Given the description of an element on the screen output the (x, y) to click on. 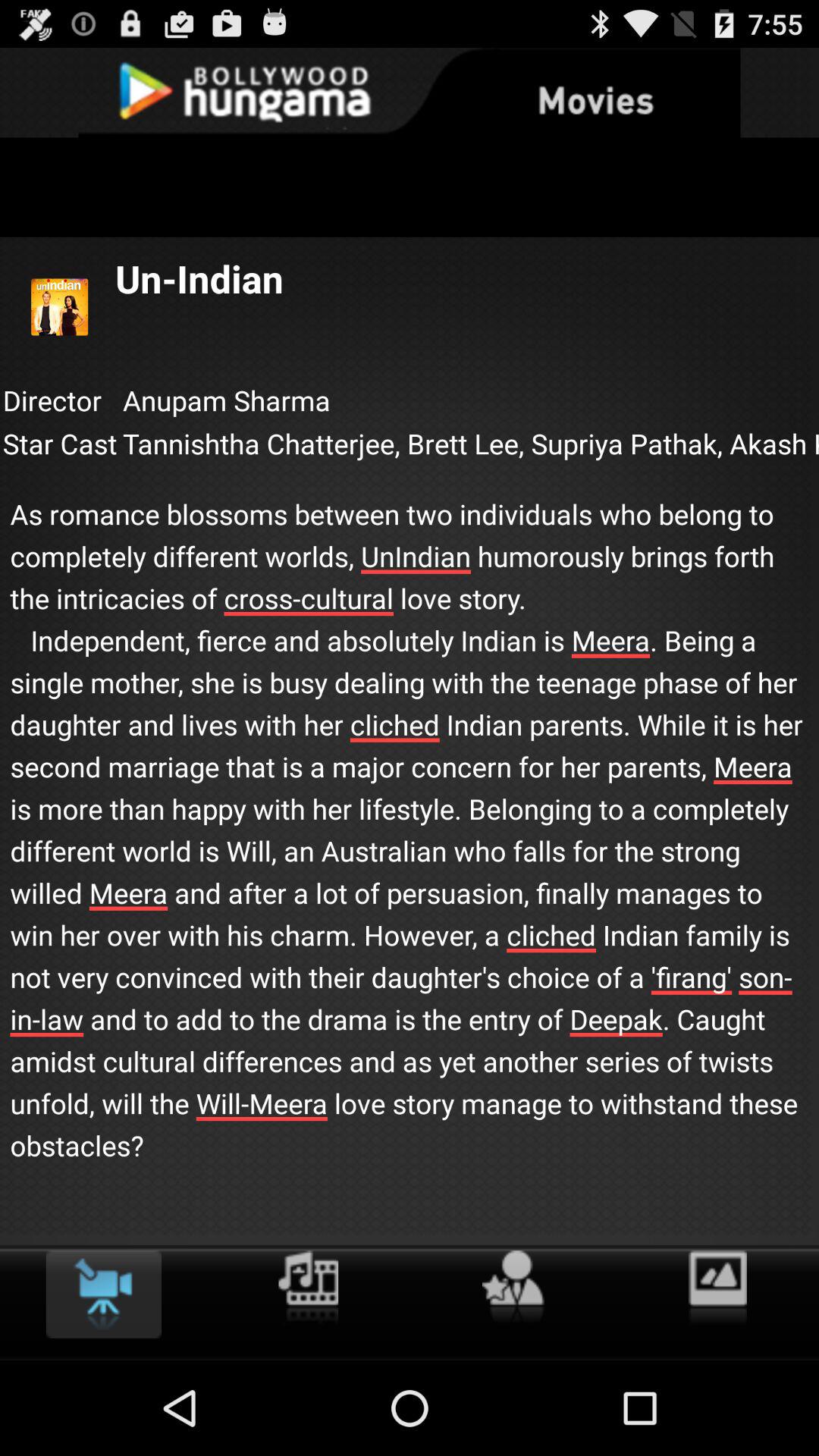
select video (103, 1294)
